Given the description of an element on the screen output the (x, y) to click on. 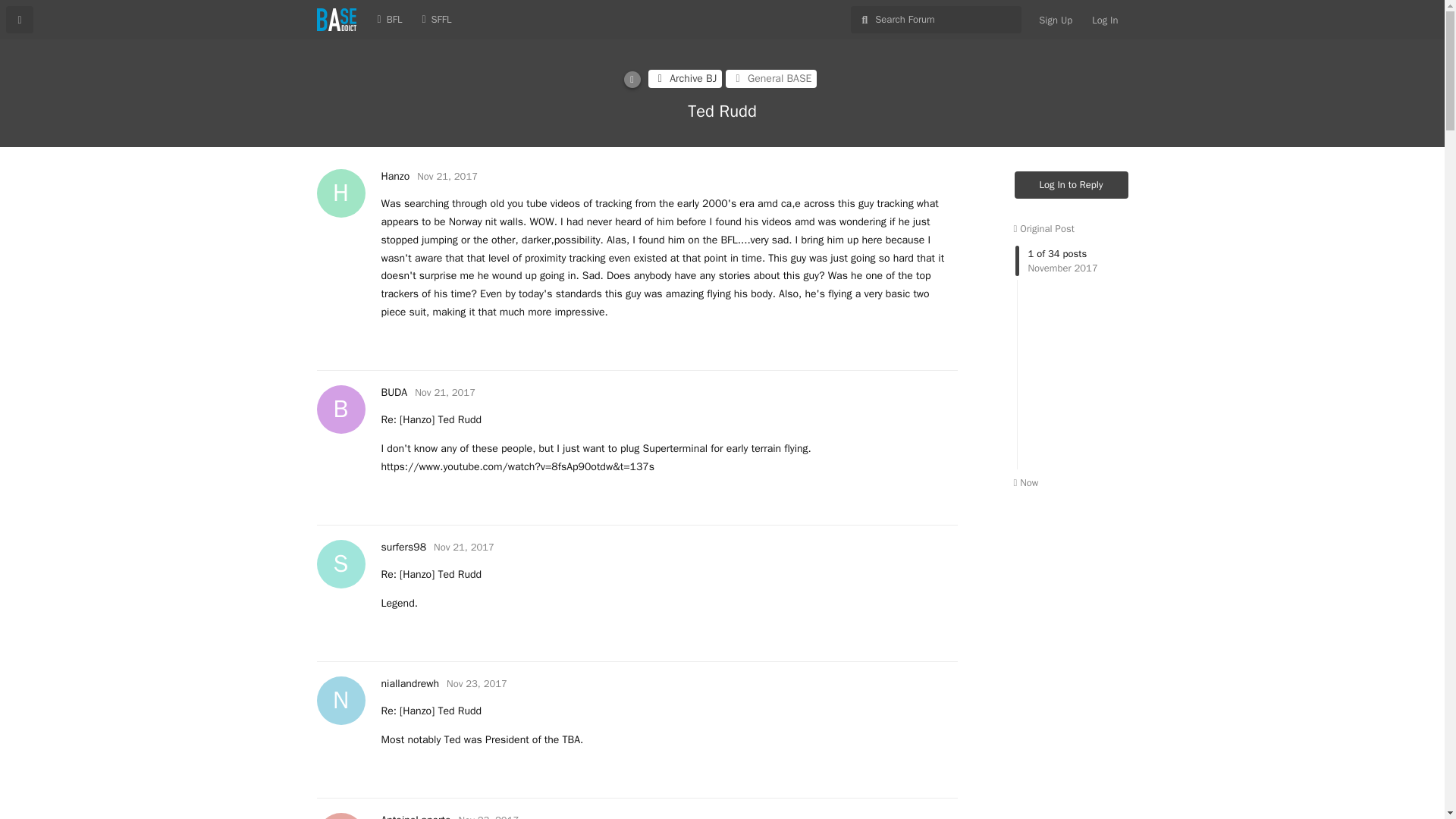
Tuesday, November 21, 2017 10:21 PM (464, 546)
Tuesday, November 21, 2017 9:02 PM (446, 175)
Log In to Reply (1071, 185)
Tuesday, November 21, 2017 9:46 PM (394, 175)
Sign Up (414, 816)
Nov 21, 2017 (445, 391)
Nov 21, 2017 (1055, 19)
Thursday, November 23, 2017 3:50 AM (464, 546)
Now (1071, 355)
